Given the description of an element on the screen output the (x, y) to click on. 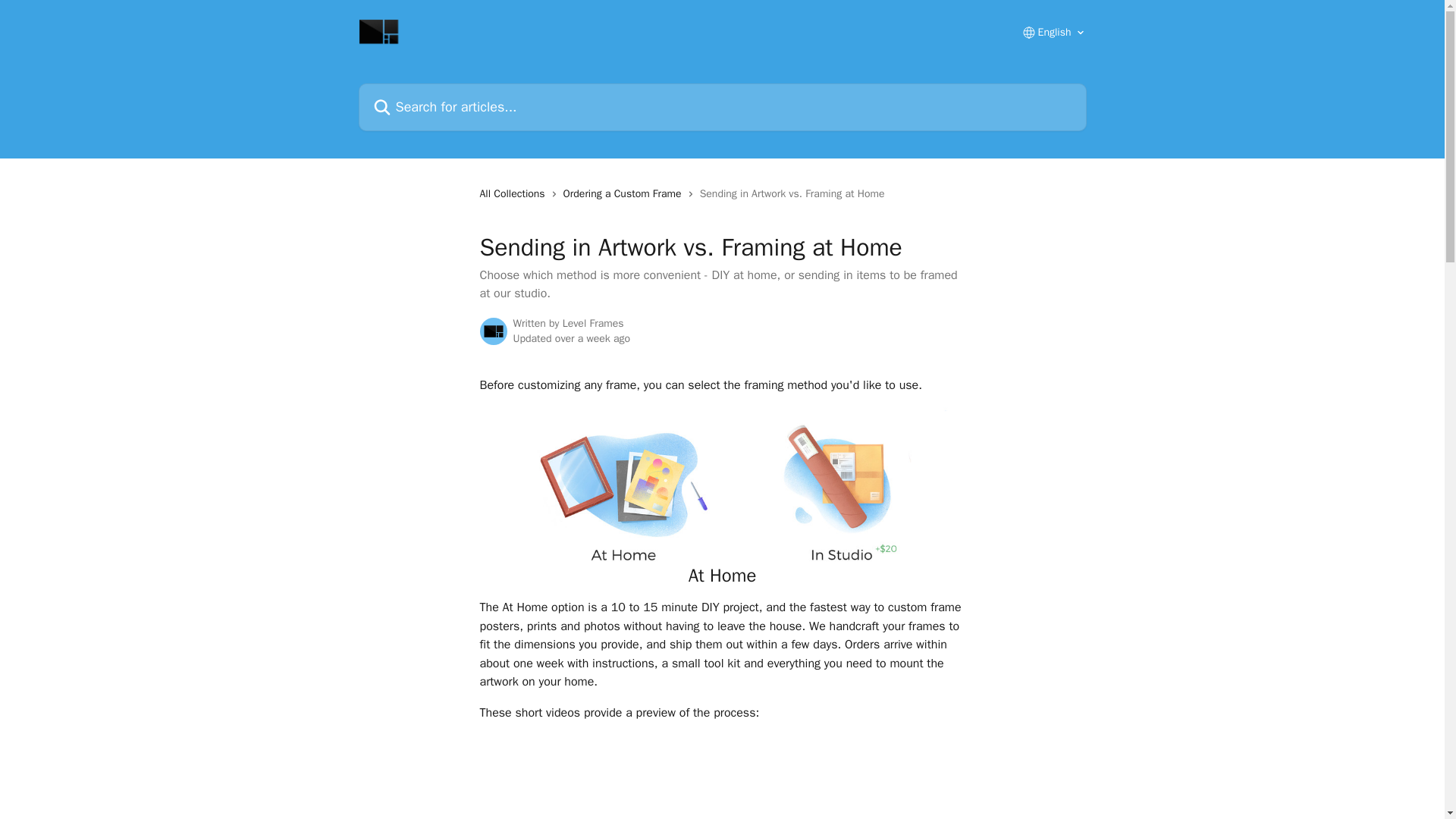
All Collections (514, 193)
Ordering a Custom Frame (625, 193)
